Given the description of an element on the screen output the (x, y) to click on. 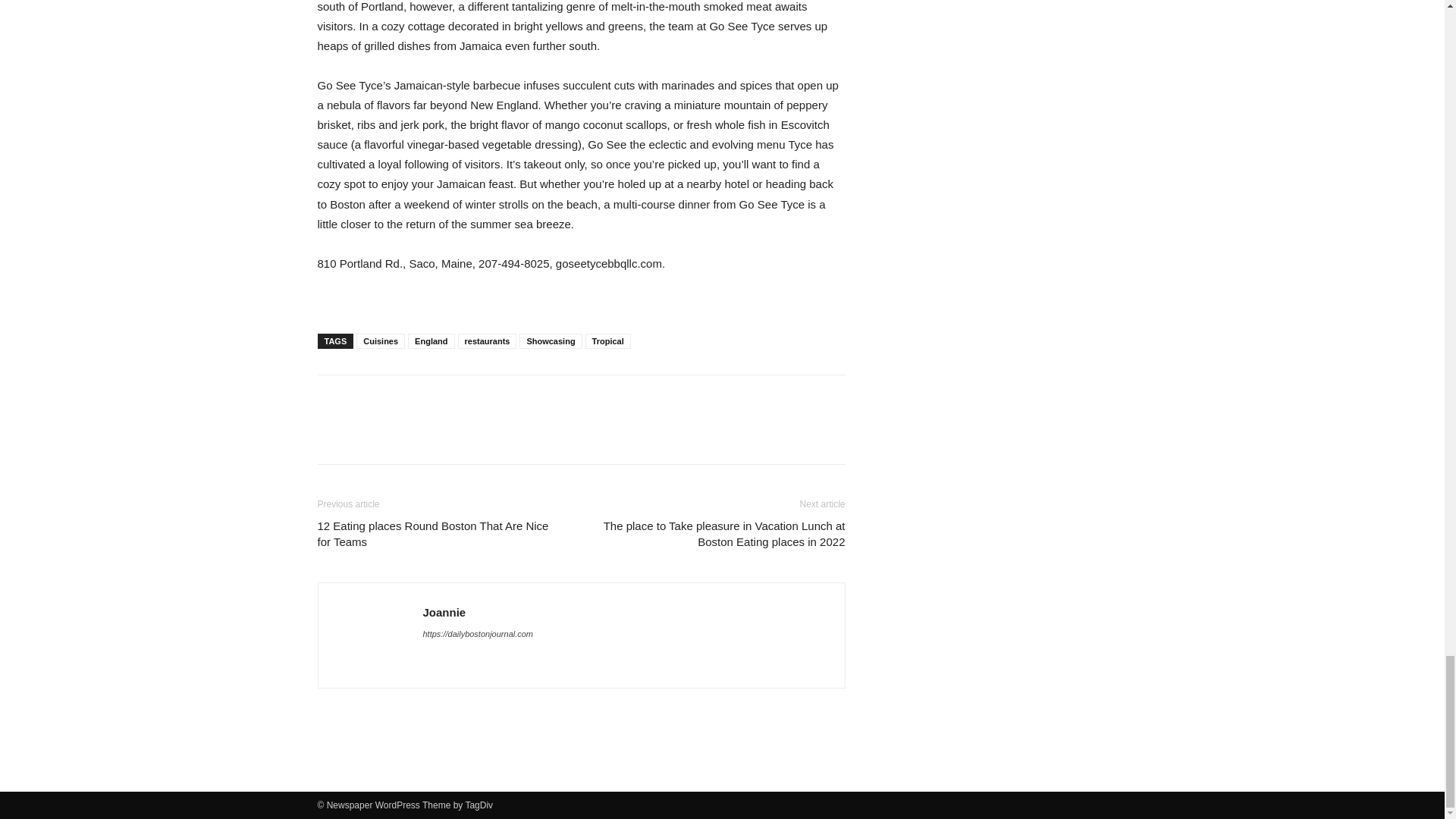
Cuisines (380, 340)
restaurants (487, 340)
England (430, 340)
